Given the description of an element on the screen output the (x, y) to click on. 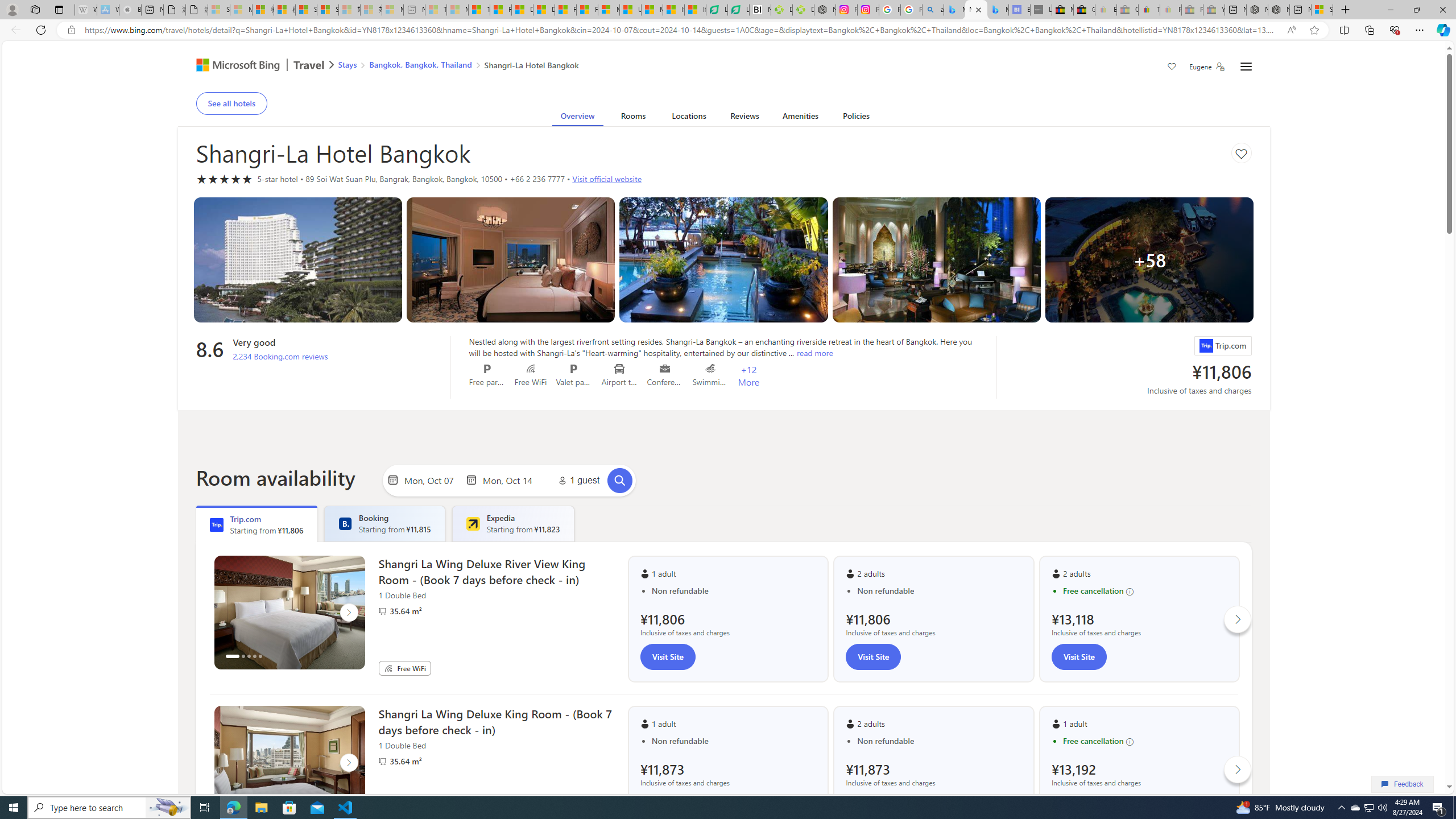
Microsoft Bing Travel - Shangri-La Hotel Bangkok (997, 9)
Buy iPad - Apple - Sleeping (130, 9)
alabama high school quarterback dies - Search (933, 9)
Locations (688, 118)
Payments Terms of Use | eBay.com - Sleeping (1170, 9)
Microsoft account | Account Checkup - Sleeping (392, 9)
Conference rooms (665, 368)
